Given the description of an element on the screen output the (x, y) to click on. 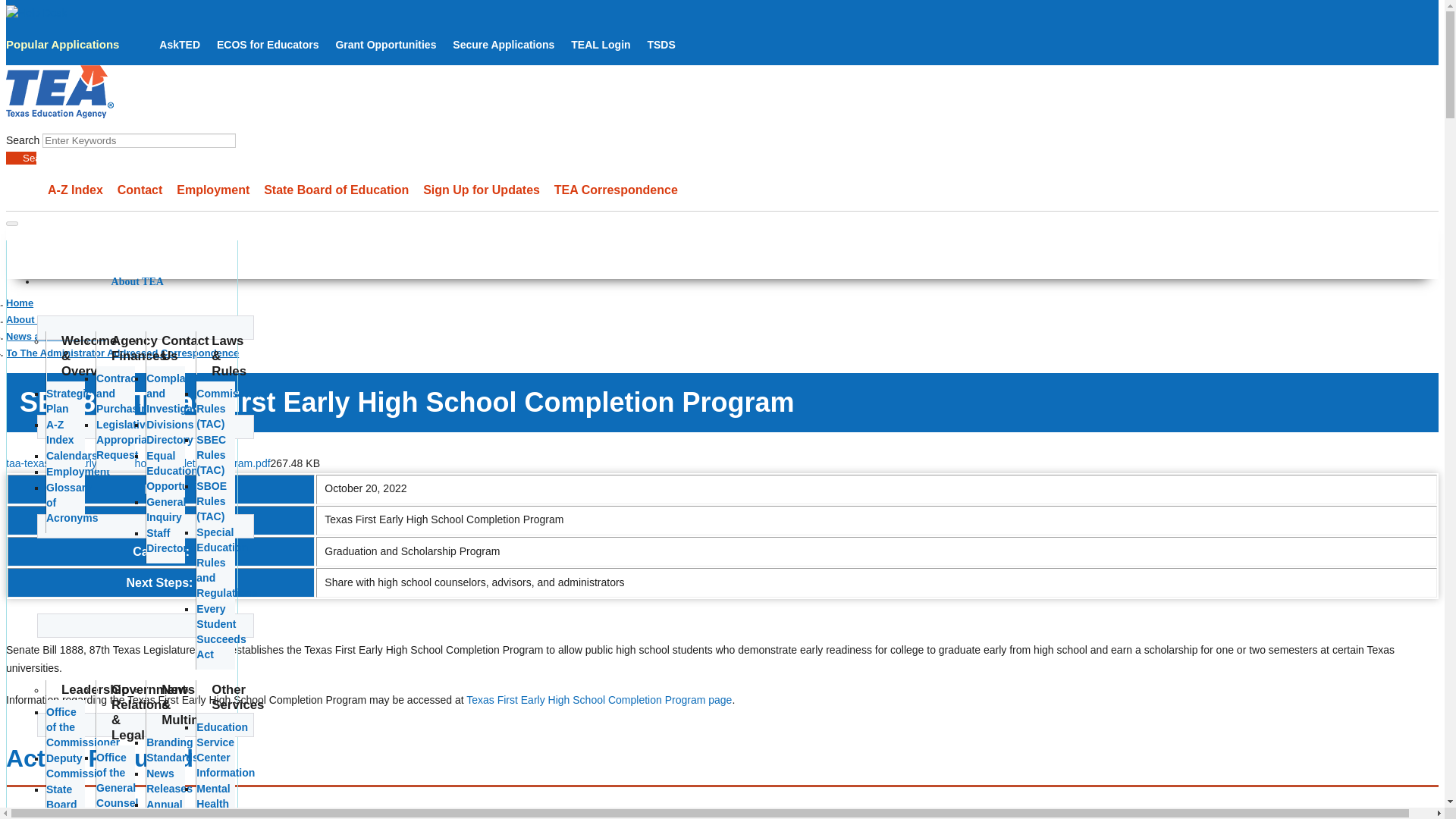
Open file in new window (137, 463)
Home (59, 114)
Help Desk (35, 12)
